Given the description of an element on the screen output the (x, y) to click on. 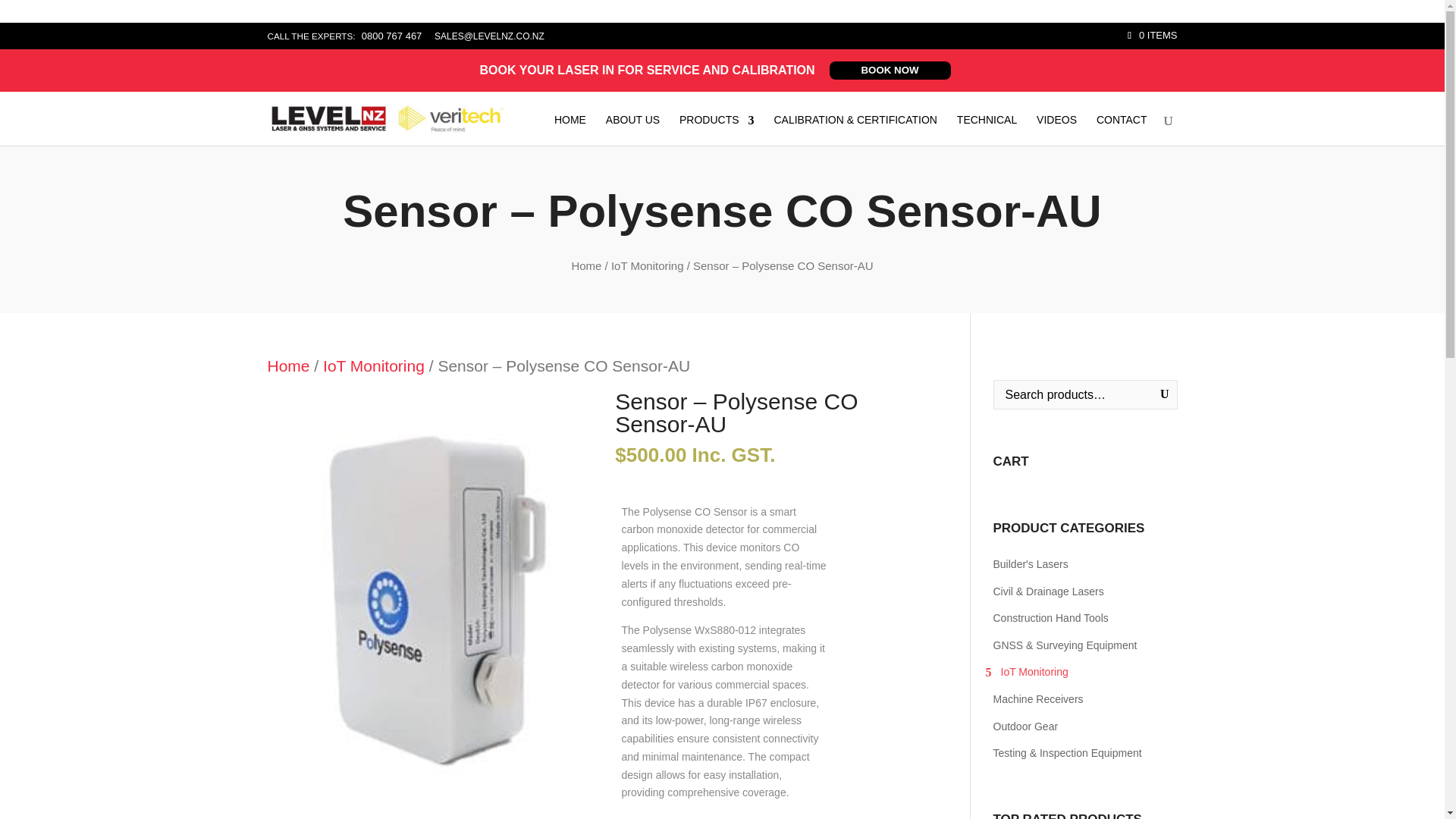
Construction Hand Tools (1084, 618)
0800 767 467 (393, 35)
BOOK NOW (889, 69)
IoT Monitoring (647, 265)
IoT Monitoring (374, 365)
Search (21, 7)
Builder's Lasers (1084, 564)
CONTACT (1121, 129)
Home (585, 265)
BOOK NOW (889, 69)
VIDEOS (1056, 129)
ABOUT US (632, 129)
TECHNICAL (986, 129)
PRODUCTS (716, 129)
0 ITEMS (1151, 34)
